Given the description of an element on the screen output the (x, y) to click on. 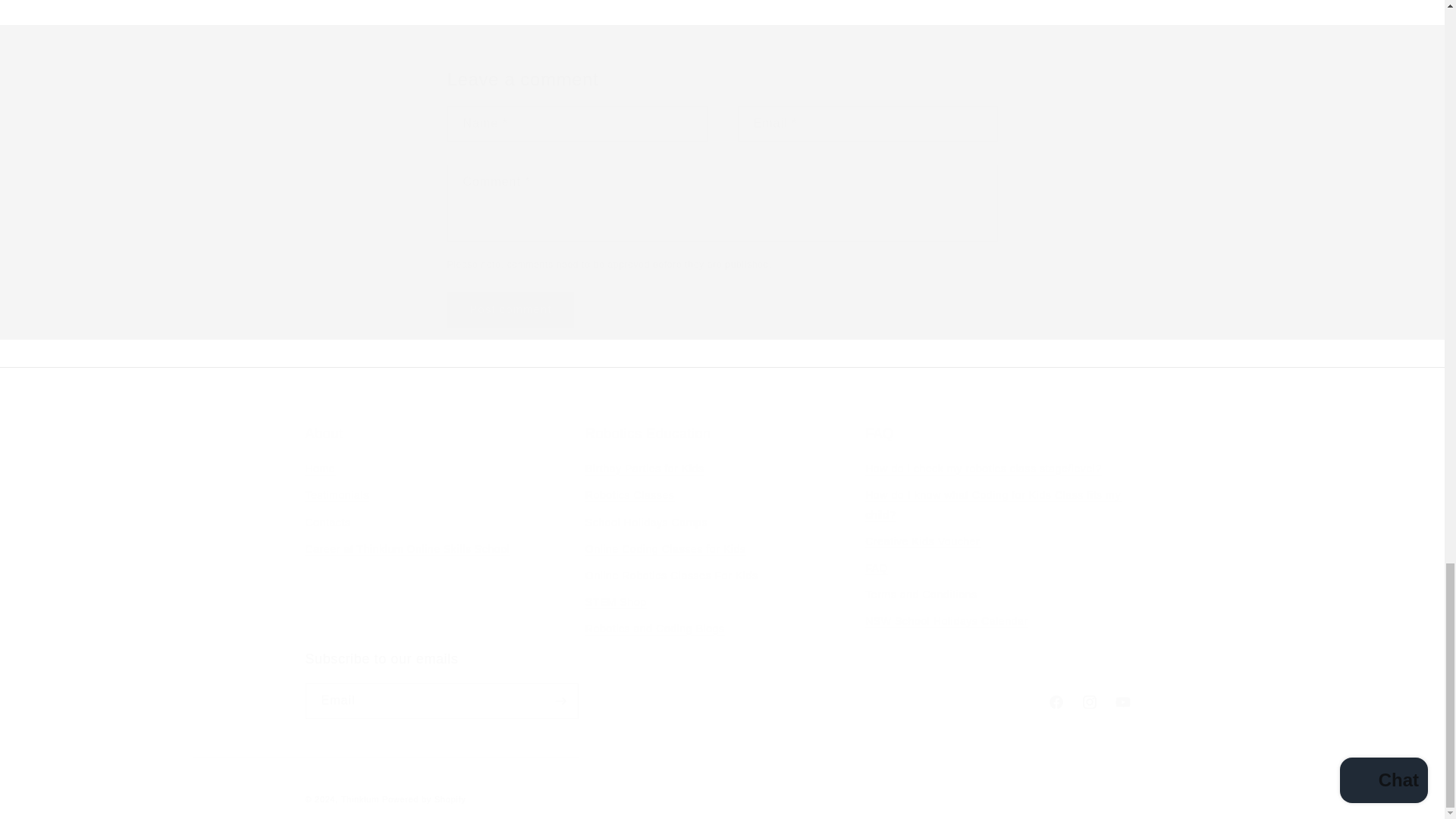
Post comment (510, 309)
